Given the description of an element on the screen output the (x, y) to click on. 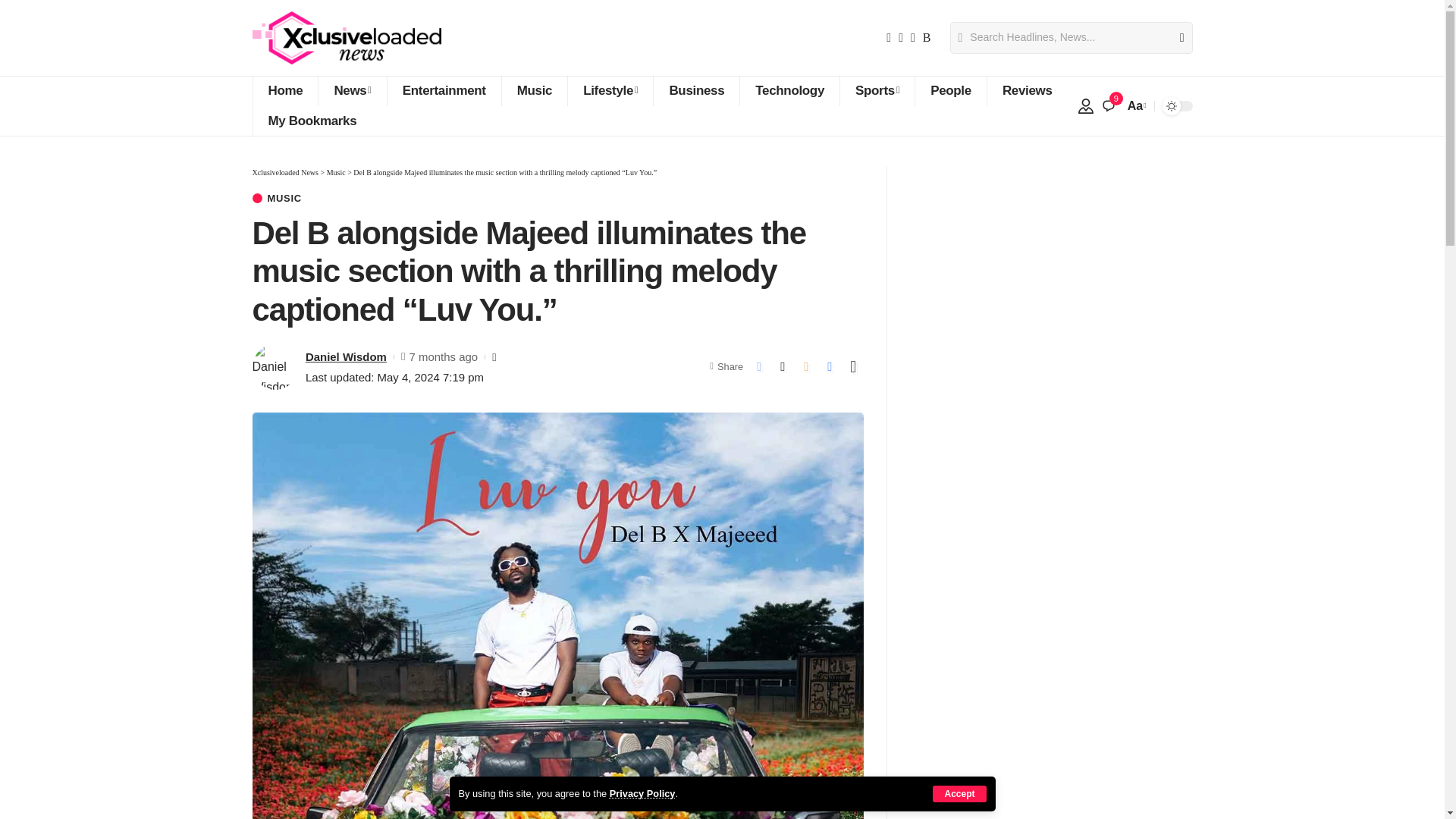
Go to the Music Category archives. (336, 172)
Sports (877, 91)
Music (533, 91)
Lifestyle (609, 91)
Entertainment (443, 91)
Xclusiveloaded News (346, 37)
Search (1175, 37)
People (950, 91)
Accept (959, 793)
Business (695, 91)
